Given the description of an element on the screen output the (x, y) to click on. 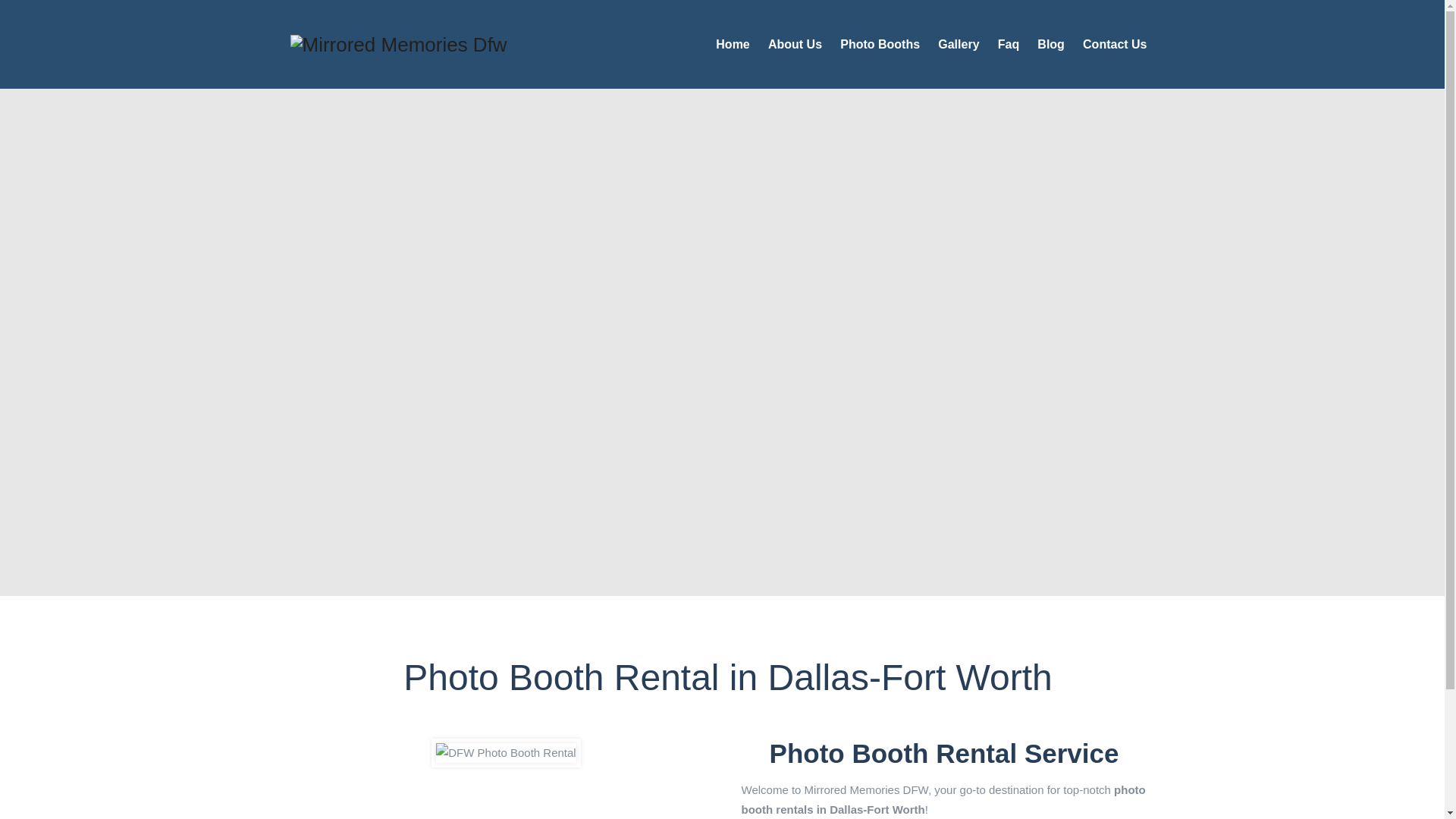
DFW Photo Booth Rental (505, 752)
Photo Booths (880, 44)
Mirrored Memories Dfw (397, 44)
